Given the description of an element on the screen output the (x, y) to click on. 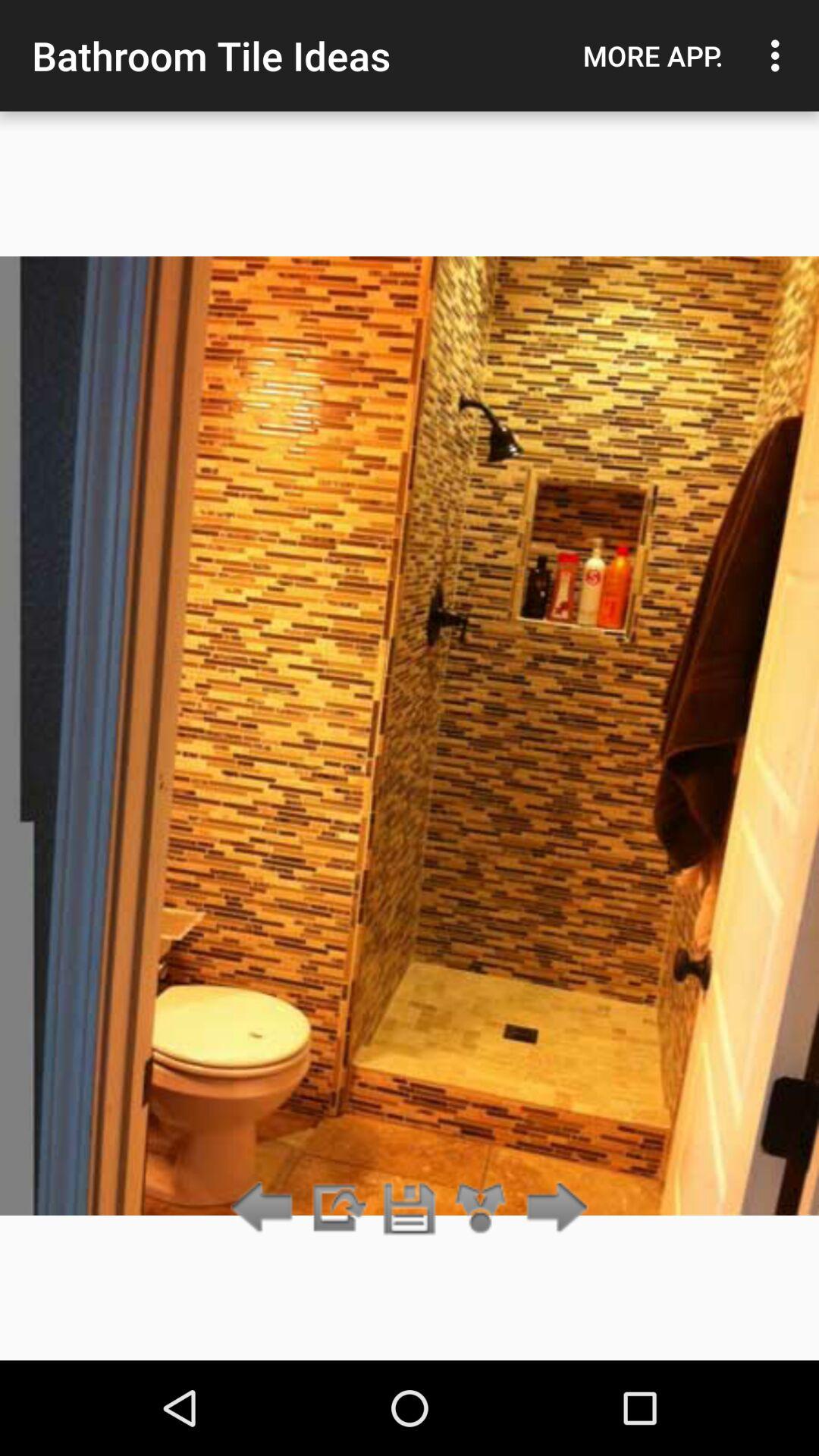
go back (266, 1209)
